Given the description of an element on the screen output the (x, y) to click on. 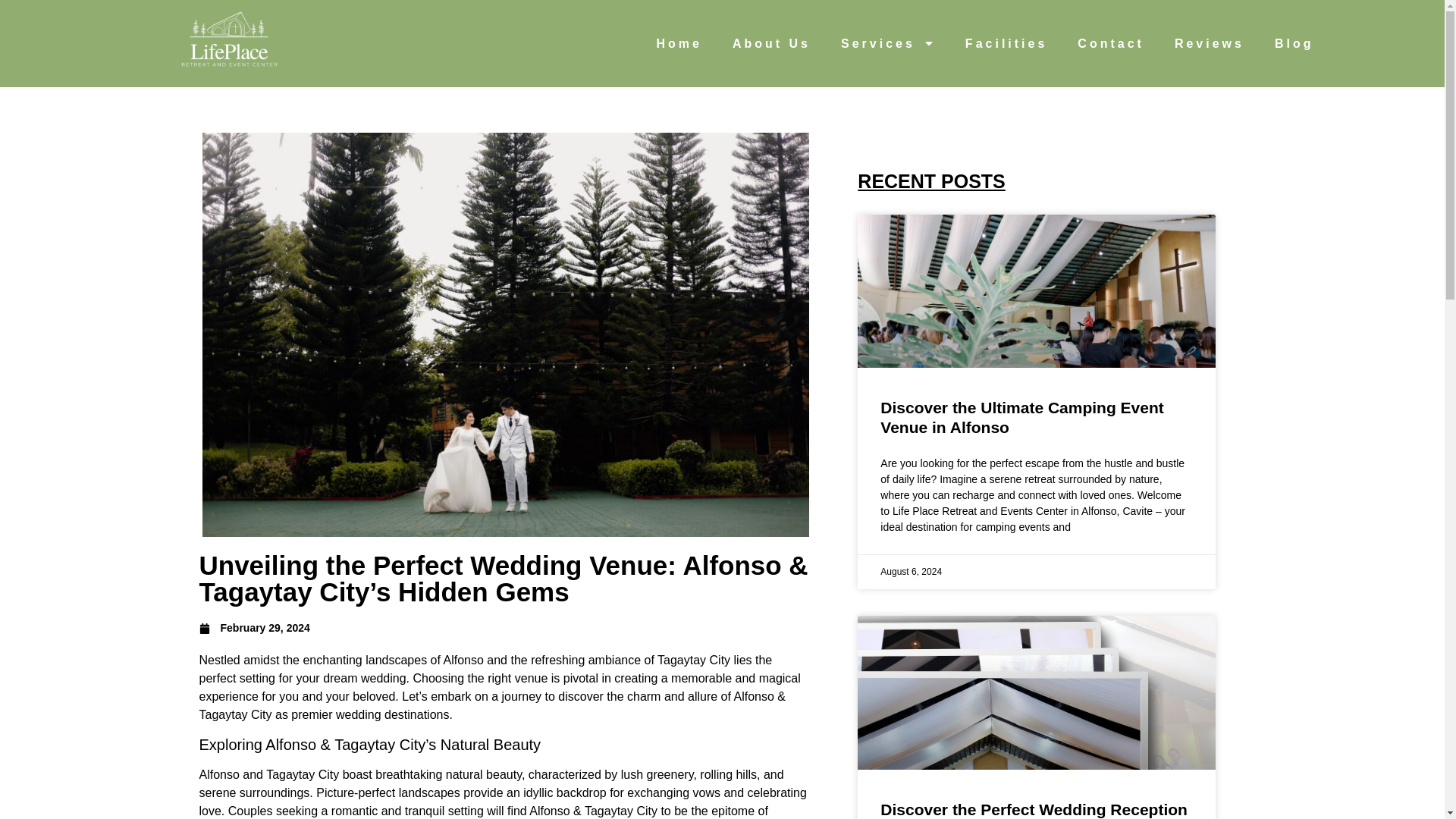
About Us (771, 42)
Facilities (1006, 42)
Services (887, 42)
Blog (1294, 42)
Reviews (1208, 42)
Home (678, 42)
Contact (1110, 42)
